Given the description of an element on the screen output the (x, y) to click on. 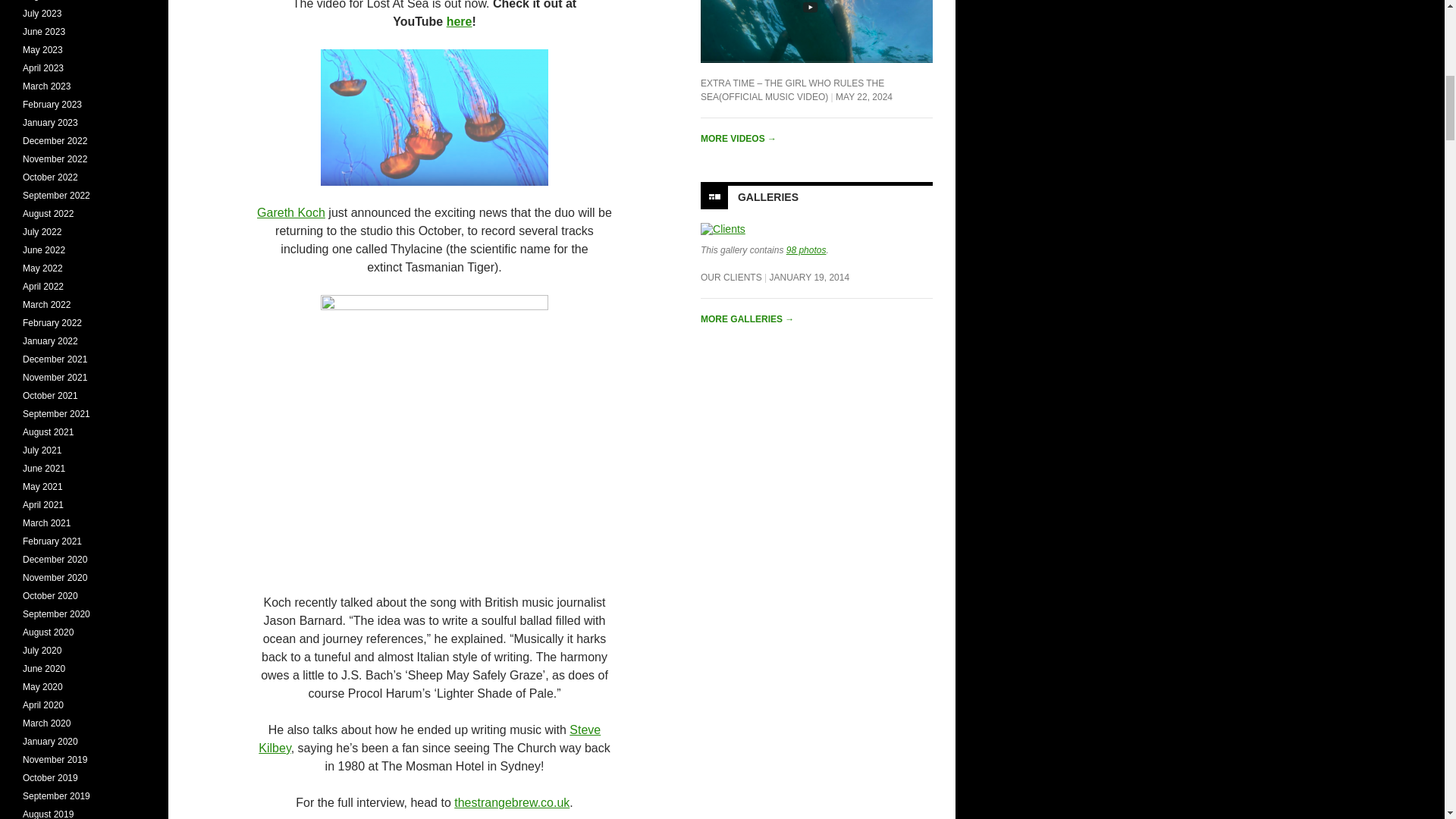
here (458, 21)
Steve Kilbey (429, 738)
Gareth Koch (290, 212)
thestrangebrew.co.uk (511, 802)
